Given the description of an element on the screen output the (x, y) to click on. 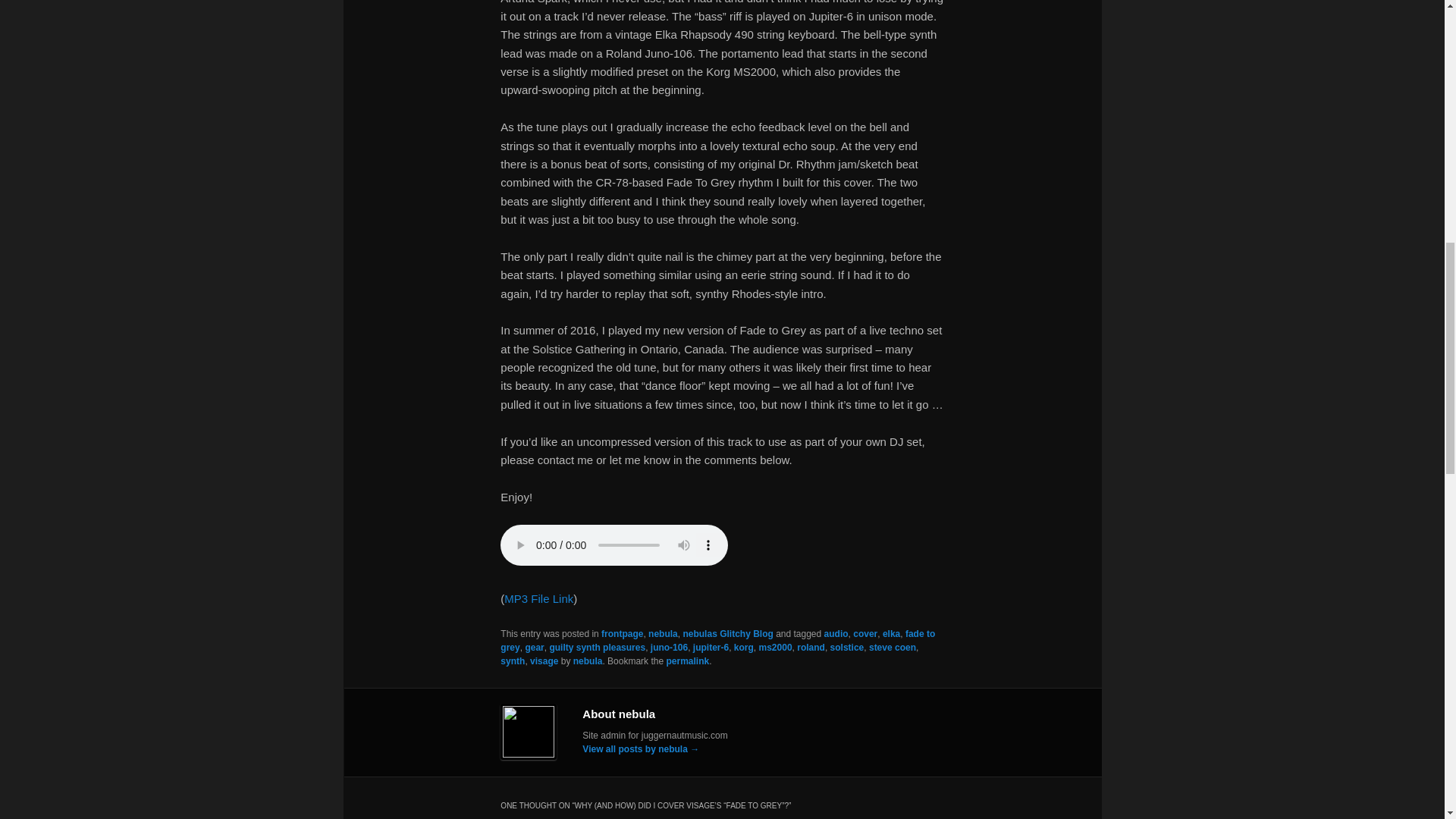
korg (743, 647)
solstice (846, 647)
ms2000 (775, 647)
frontpage (622, 633)
nebulas Glitchy Blog (727, 633)
steve coen (892, 647)
audio (836, 633)
juno-106 (668, 647)
cover (865, 633)
View all posts in nebula (662, 633)
